Given the description of an element on the screen output the (x, y) to click on. 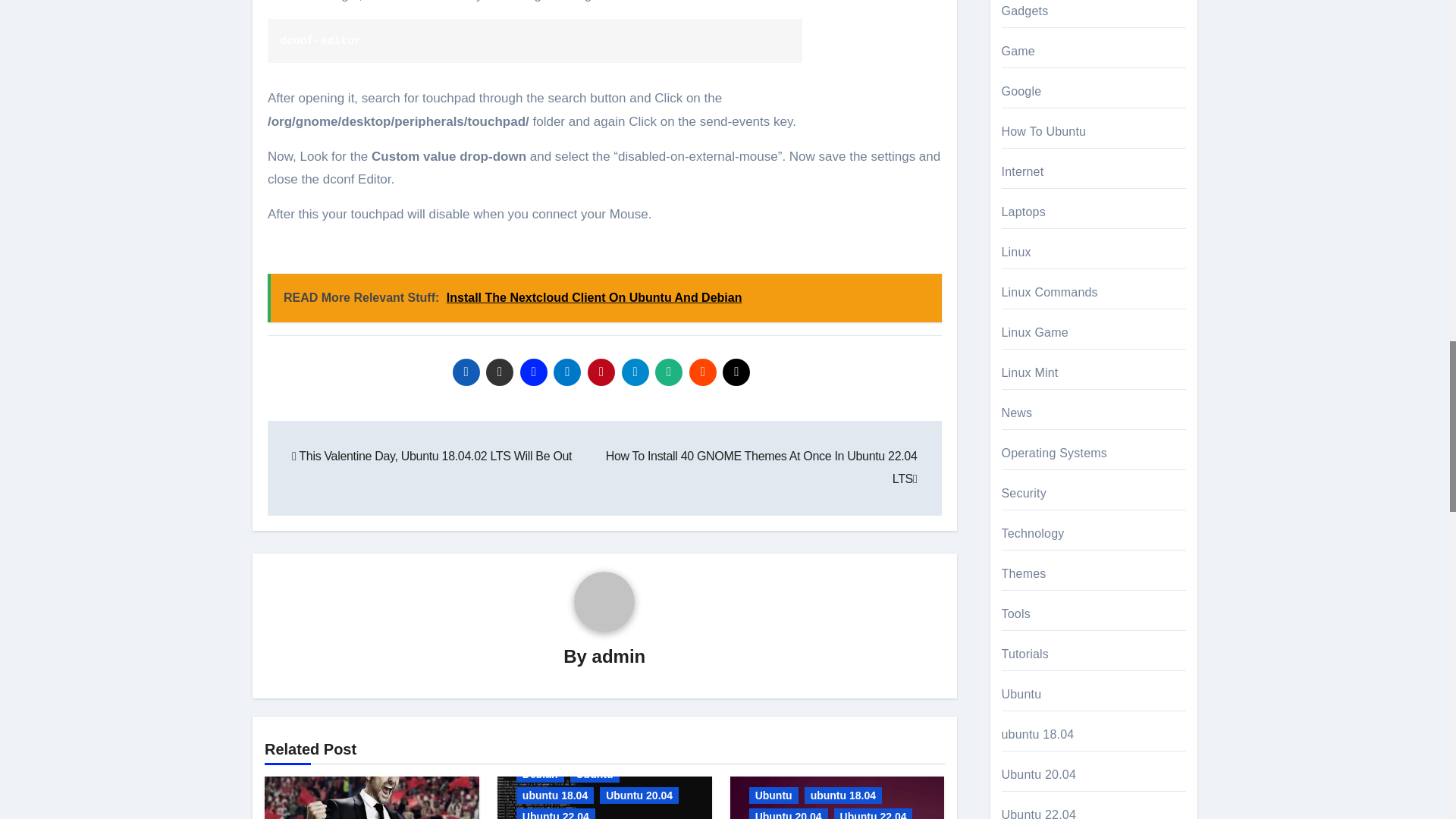
This Valentine Day, Ubuntu 18.04.02 LTS Will Be Out (432, 455)
How To Install 40 GNOME Themes At Once In Ubuntu 22.04 LTS (761, 467)
admin (619, 656)
